Given the description of an element on the screen output the (x, y) to click on. 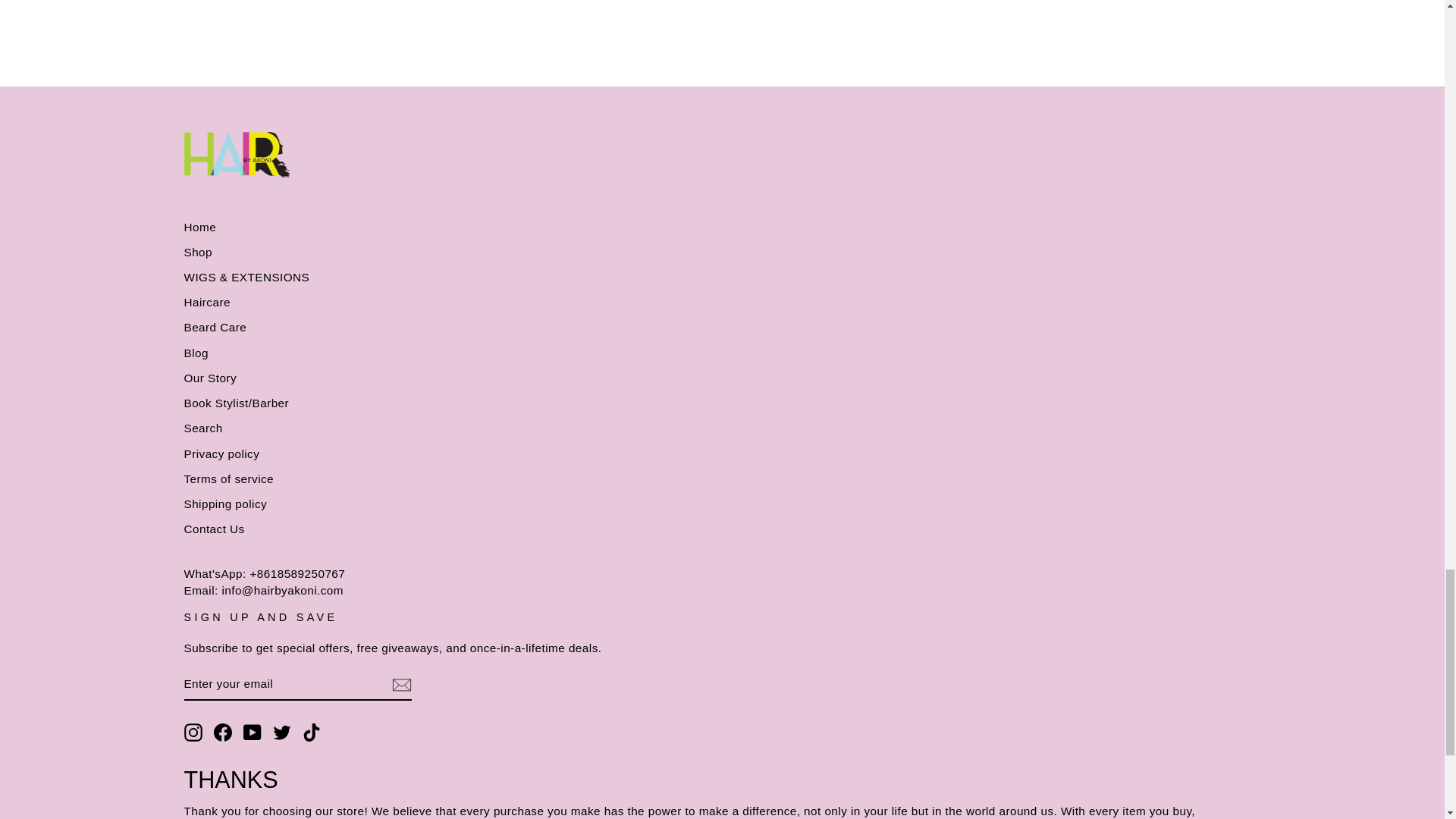
Hair By Akoni on TikTok (310, 732)
Hair By Akoni on YouTube (251, 732)
Hair By Akoni on Instagram (192, 732)
Hair By Akoni on Facebook (222, 732)
Hair By Akoni on Twitter (282, 732)
